Given the description of an element on the screen output the (x, y) to click on. 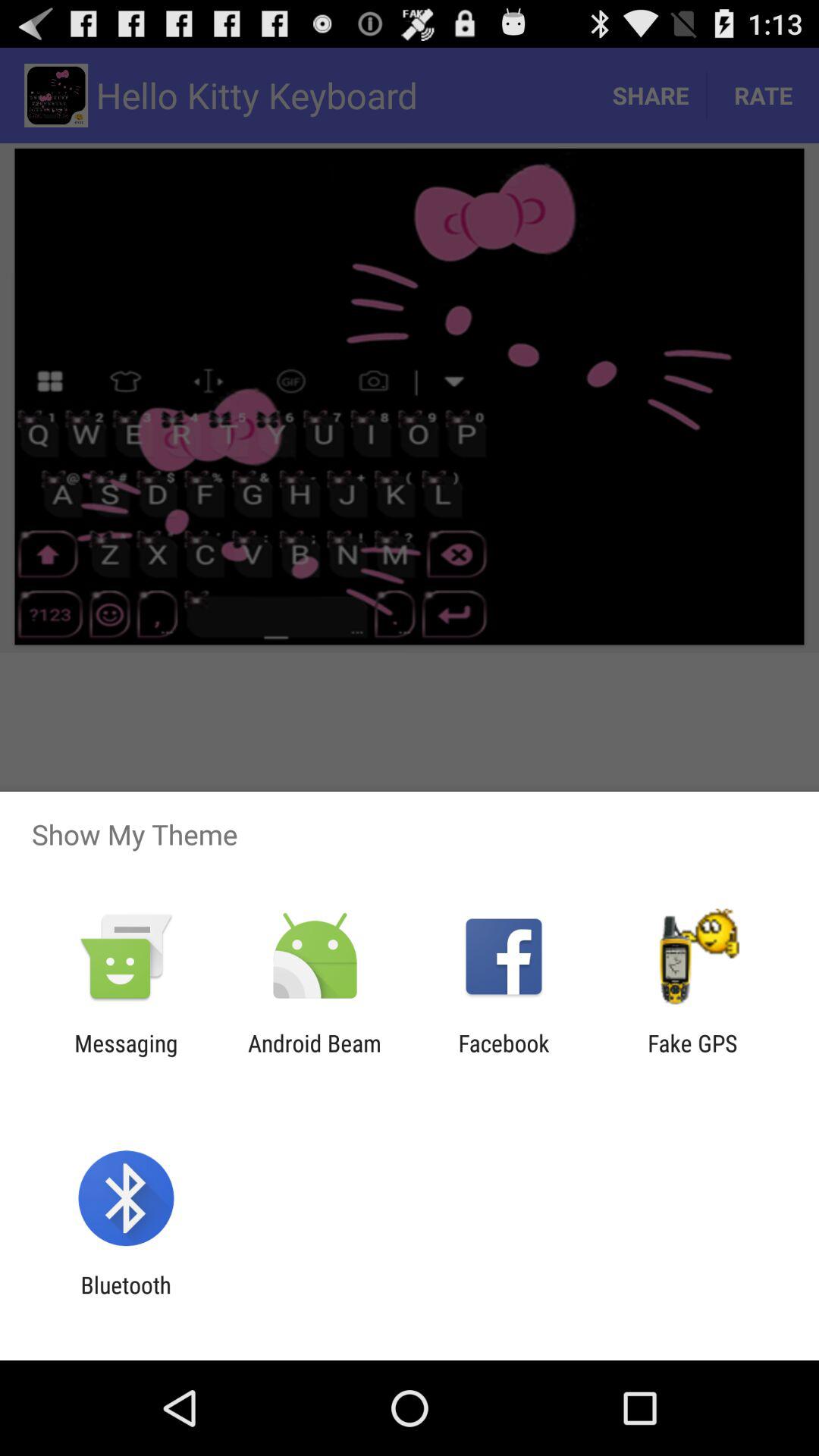
select bluetooth item (125, 1298)
